Given the description of an element on the screen output the (x, y) to click on. 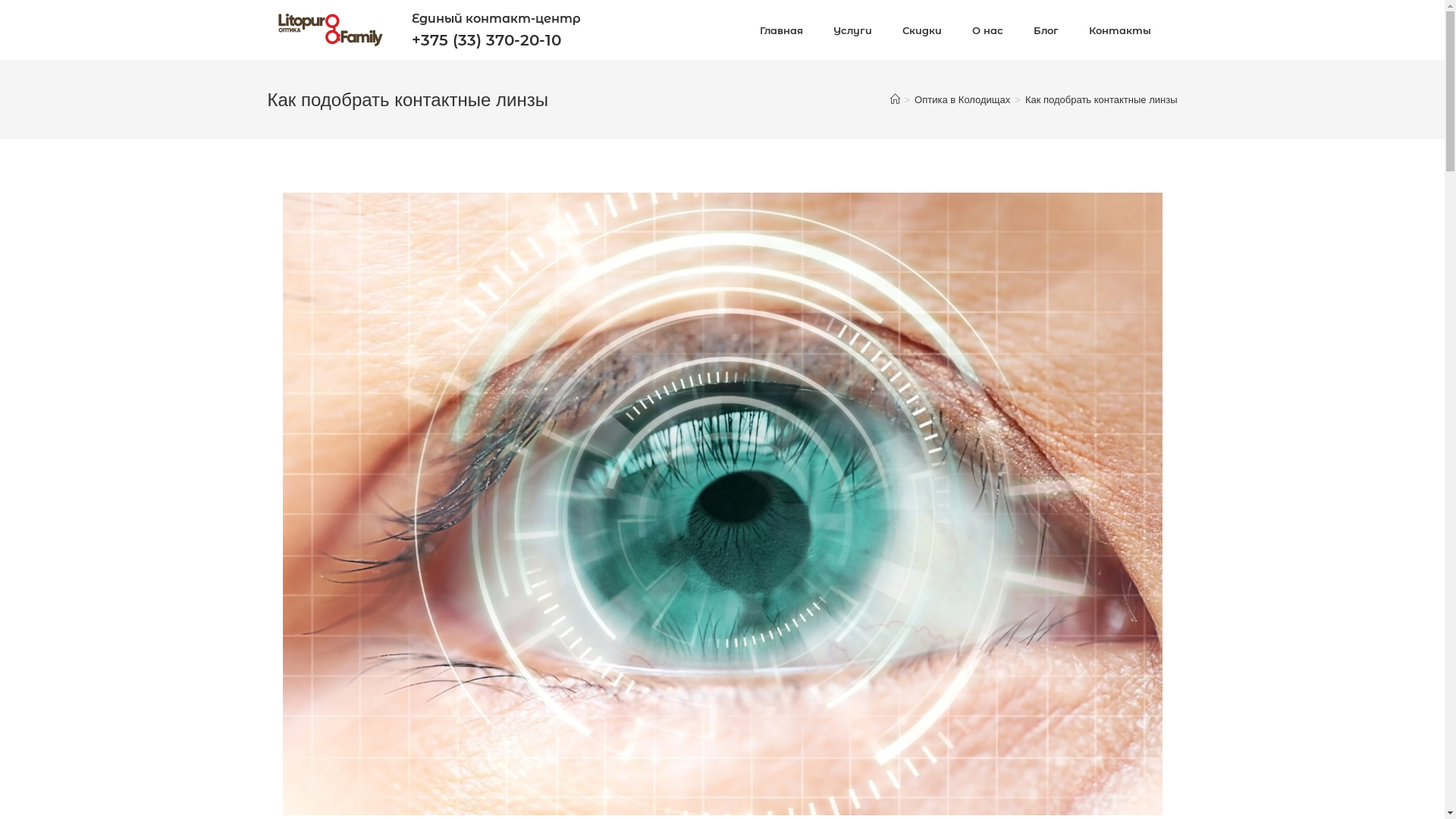
+375 (33) 370-20-10 Element type: text (485, 40)
cropped-Logo_new.png Element type: hover (329, 30)
